Given the description of an element on the screen output the (x, y) to click on. 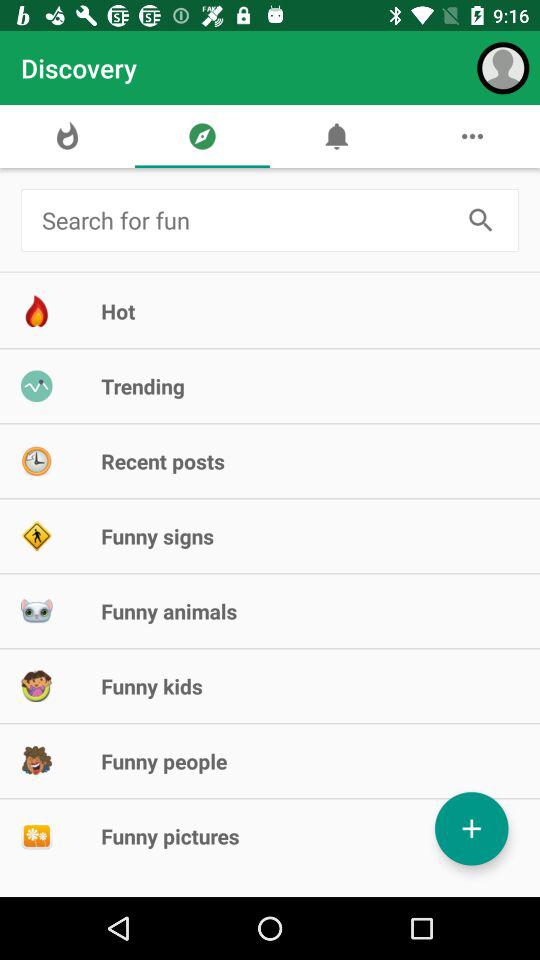
populate search bar (245, 220)
